Given the description of an element on the screen output the (x, y) to click on. 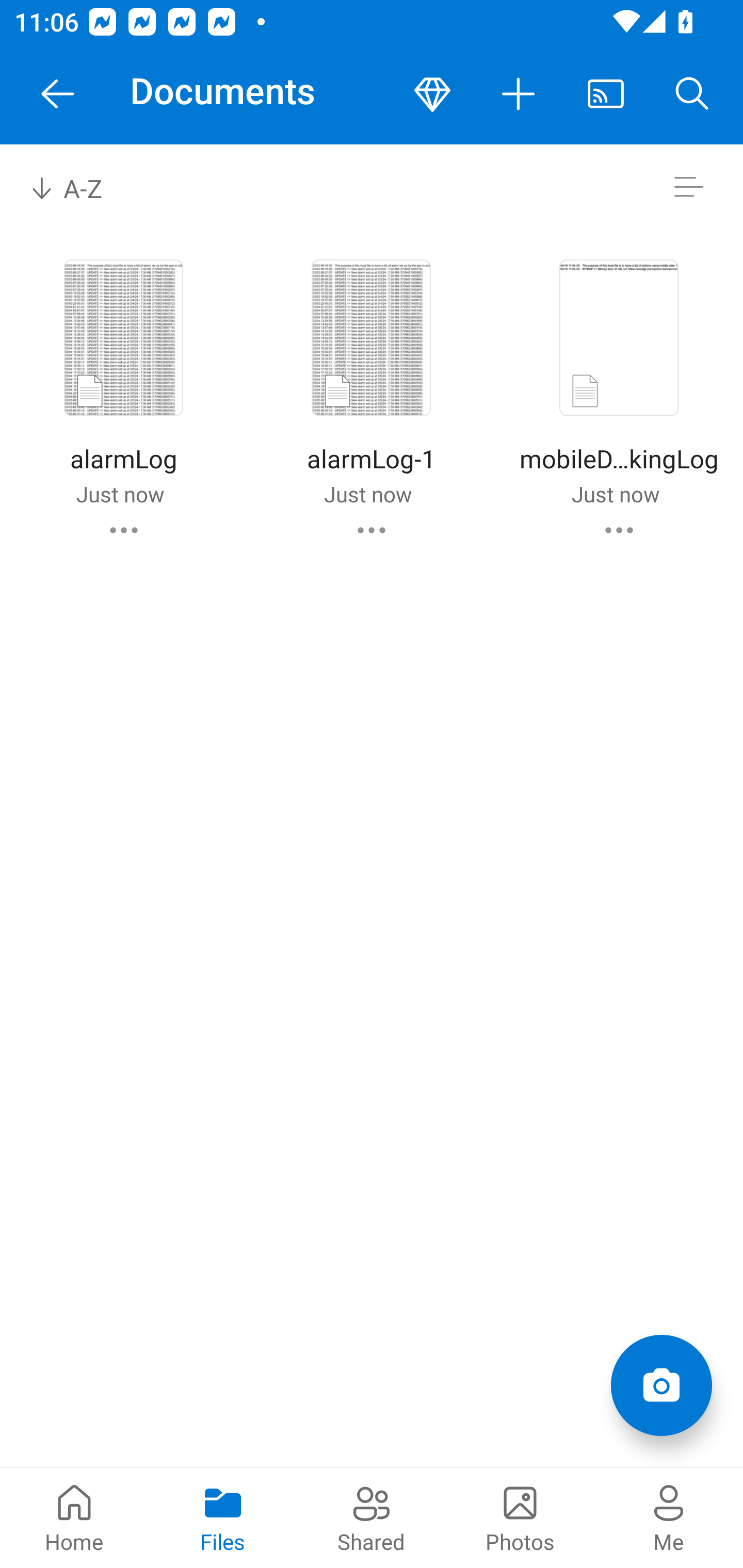
Navigate Up (57, 93)
Cast. Disconnected (605, 93)
Premium button (432, 93)
More actions button (518, 93)
Search button (692, 93)
A-Z Sort by combo box, sort by name, A to Z (80, 187)
Switch to list view (688, 187)
Document alarmLog Just now alarmLog commands (123, 393)
Document alarmLog-1 Just now alarmLog-1 commands (370, 393)
Just now (119, 493)
Just now (367, 493)
Just now (615, 493)
alarmLog commands (123, 529)
alarmLog-1 commands (371, 529)
mobileDataTrackingLog commands (618, 529)
Add items Scan (660, 1385)
Home pivot Home (74, 1517)
Shared pivot Shared (371, 1517)
Photos pivot Photos (519, 1517)
Me pivot Me (668, 1517)
